Given the description of an element on the screen output the (x, y) to click on. 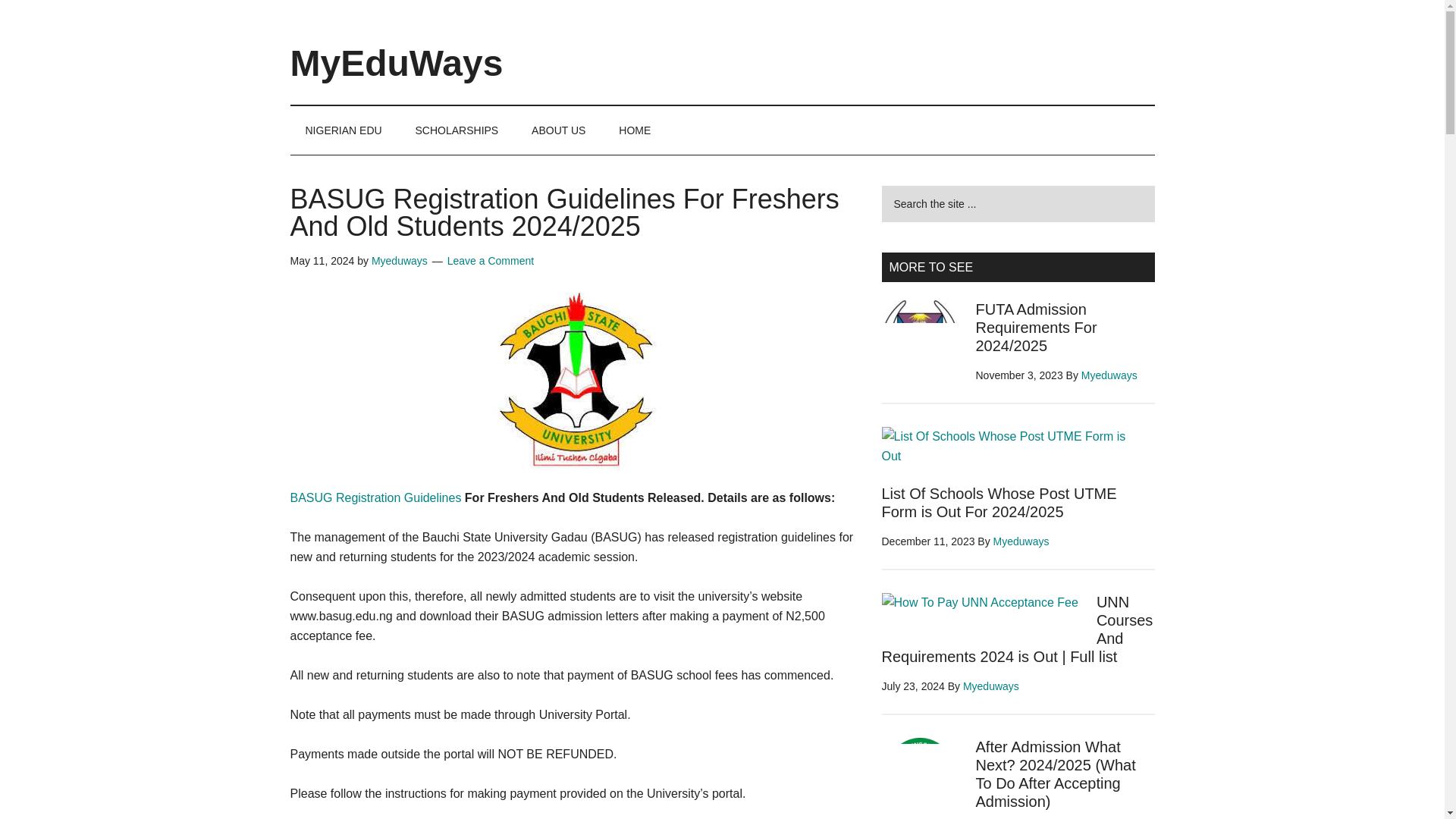
Leave a Comment (490, 260)
SCHOLARSHIPS (456, 130)
ABOUT US (557, 130)
Myeduways (990, 686)
NIGERIAN EDU (342, 130)
Myeduways (1020, 541)
HOME (634, 130)
Myeduways (1109, 375)
